Given the description of an element on the screen output the (x, y) to click on. 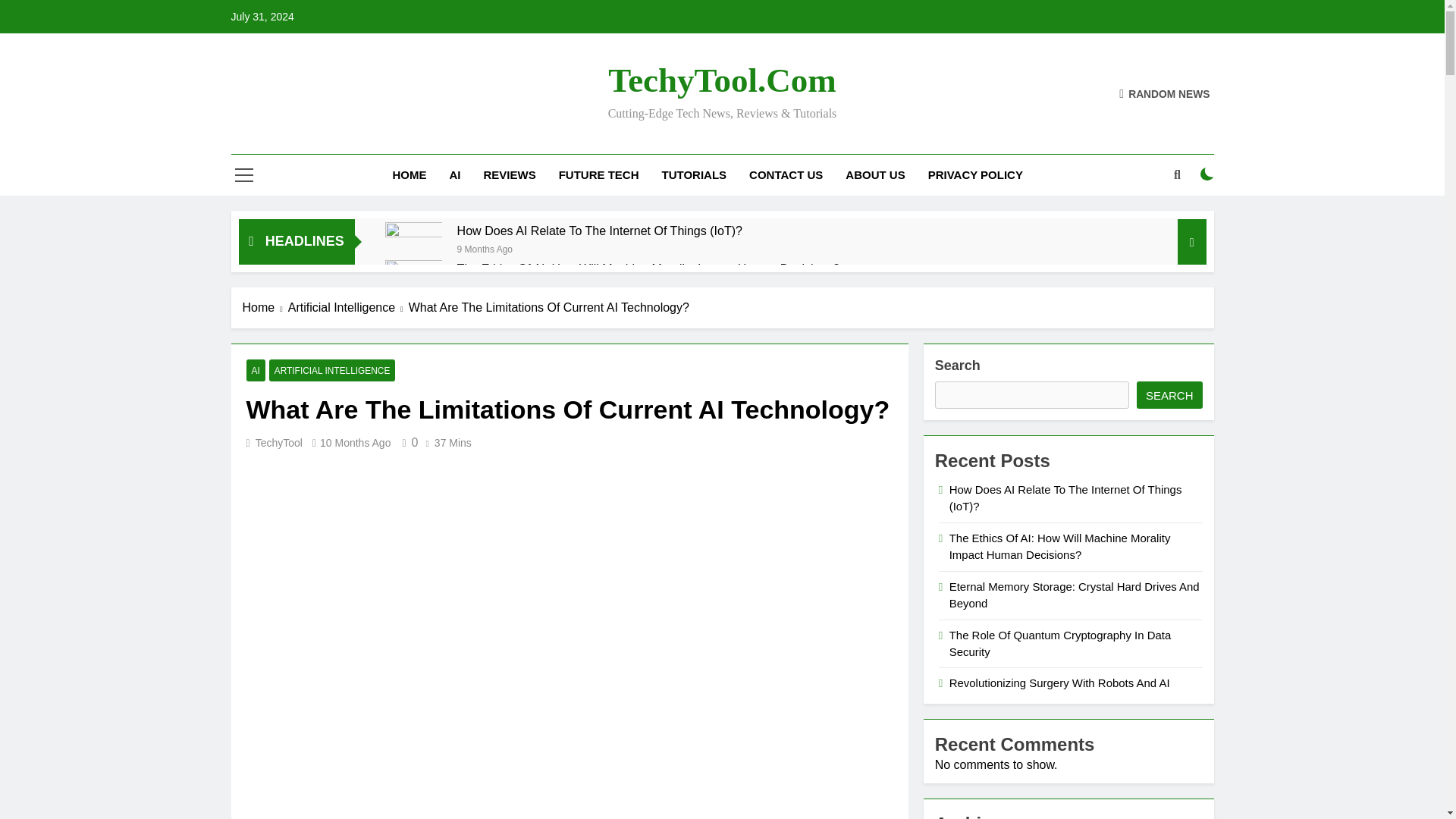
HOME (409, 174)
Artificial Intelligence (348, 307)
TUTORIALS (694, 174)
TechyTool.Com (721, 80)
PRIVACY POLICY (975, 174)
RANDOM NEWS (1164, 92)
on (1206, 173)
REVIEWS (509, 174)
Home (265, 307)
ABOUT US (874, 174)
9 Months Ago (484, 247)
FUTURE TECH (598, 174)
